Given the description of an element on the screen output the (x, y) to click on. 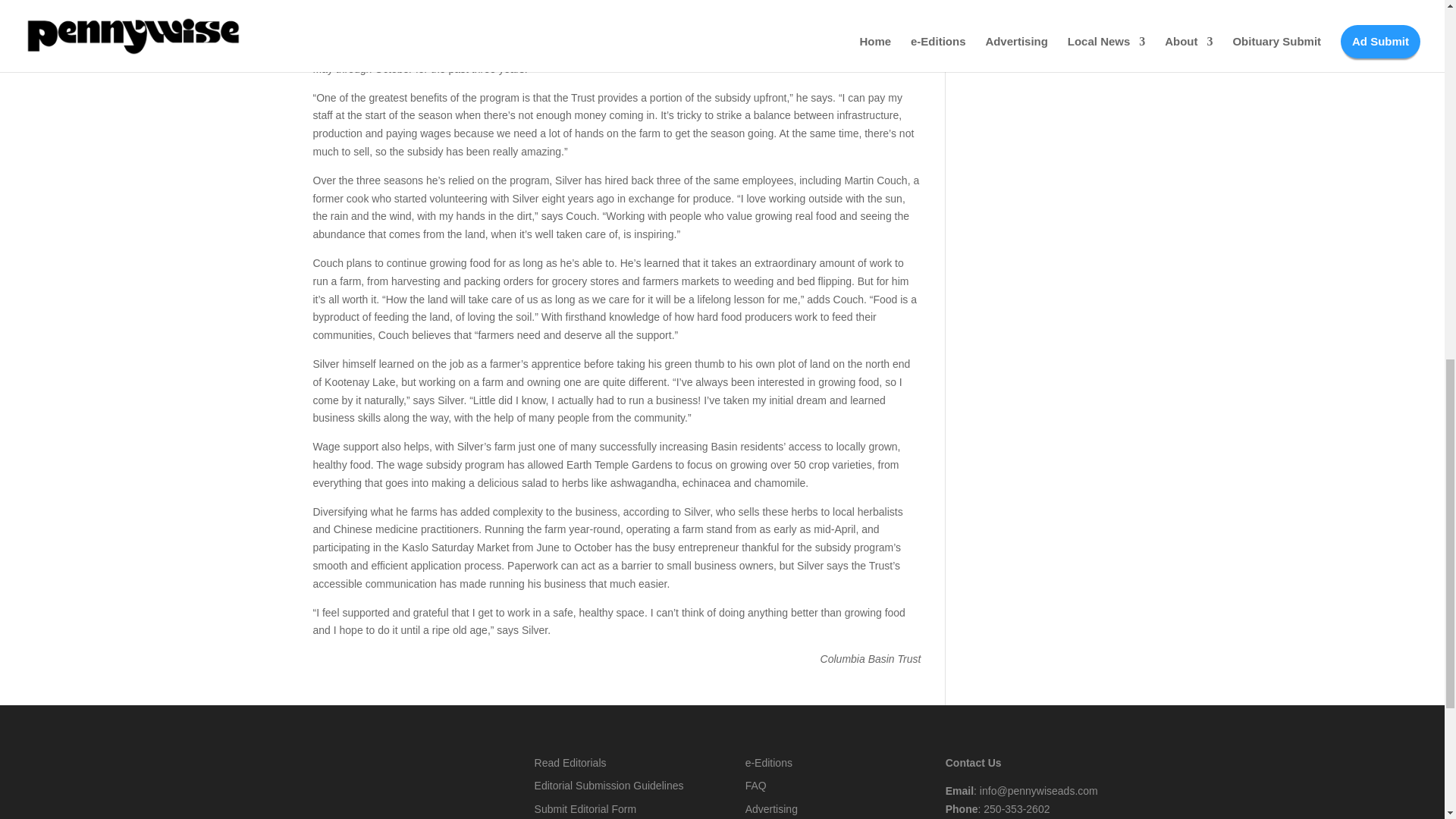
e-Editions (768, 762)
Submit Editorial Form (585, 808)
Editorial Submission Guidelines (609, 785)
FAQ (756, 785)
Advertising (771, 808)
Read Editorials (570, 762)
